Given the description of an element on the screen output the (x, y) to click on. 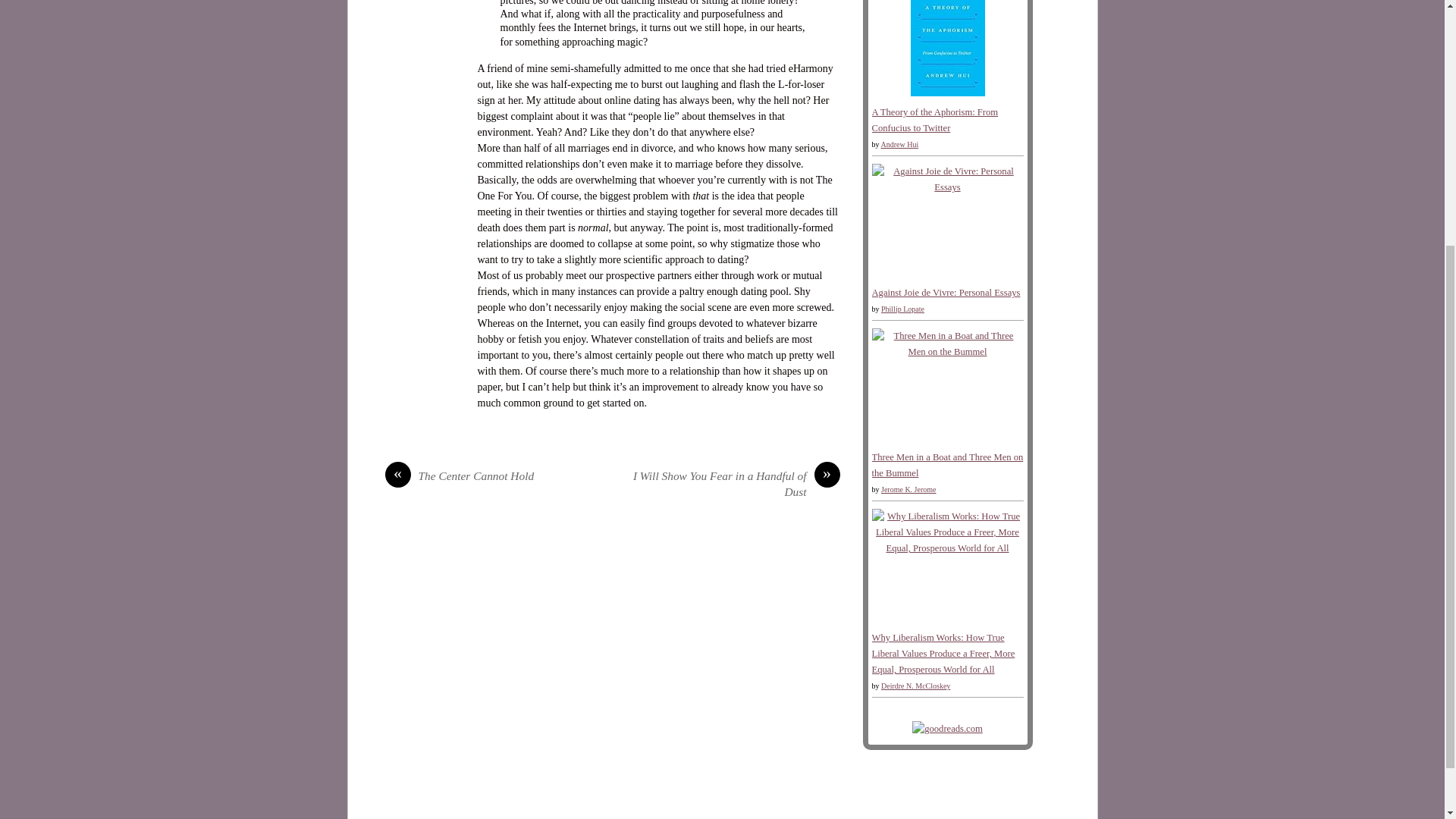
Andrew Hui (899, 144)
Jerome K. Jerome (908, 489)
Three Men in a Boat and Three Men on the Bummel (947, 351)
Phillip Lopate (902, 308)
Three Men in a Boat and Three Men on the Bummel (947, 465)
Against Joie de Vivre: Personal Essays (947, 186)
Against Joie de Vivre: Personal Essays (946, 292)
A Theory of the Aphorism: From Confucius to Twitter (935, 120)
Deirdre N. McCloskey (915, 685)
A Theory of the Aphorism: From Confucius to Twitter (947, 92)
